Given the description of an element on the screen output the (x, y) to click on. 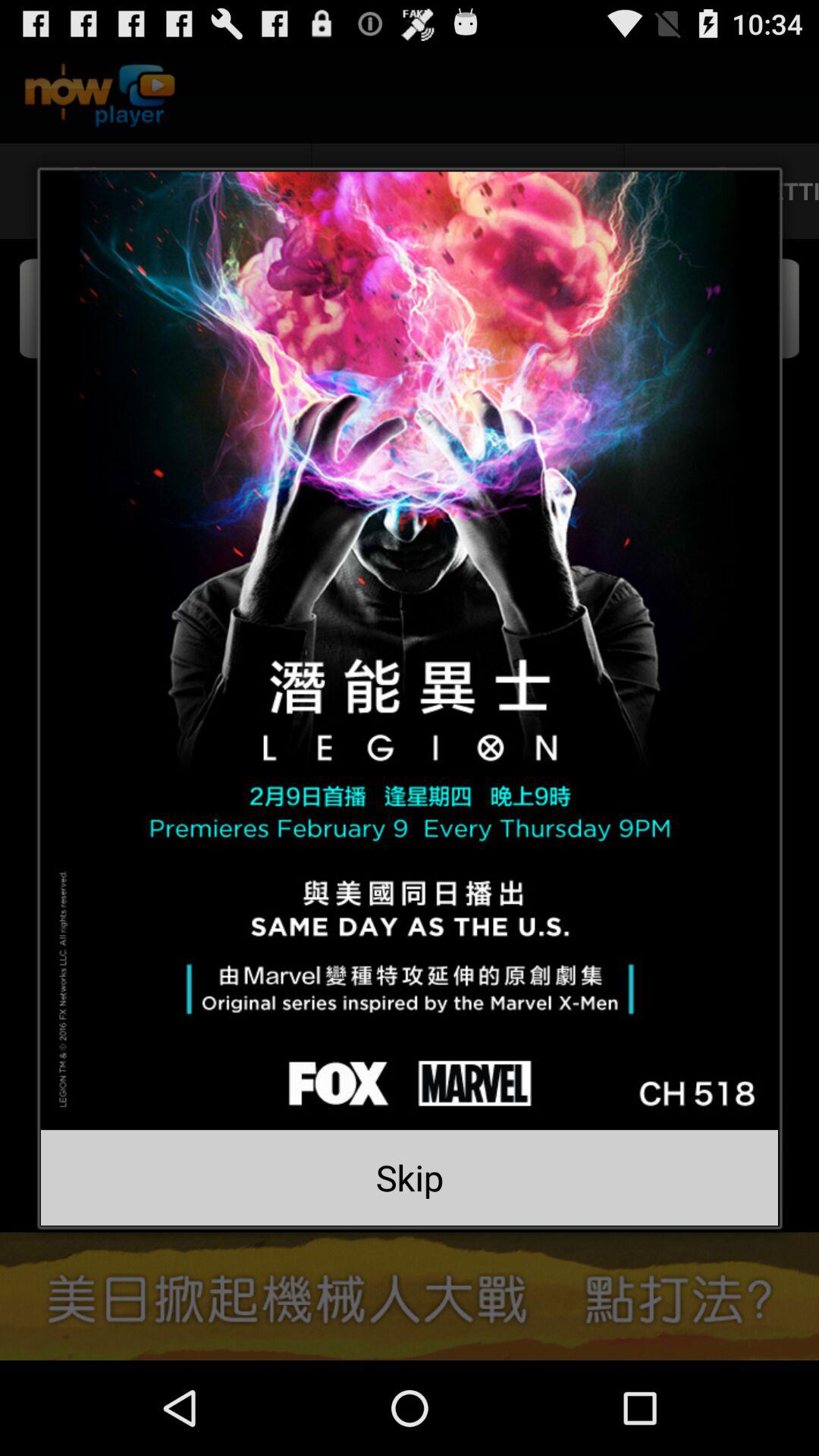
go to website (409, 650)
